Given the description of an element on the screen output the (x, y) to click on. 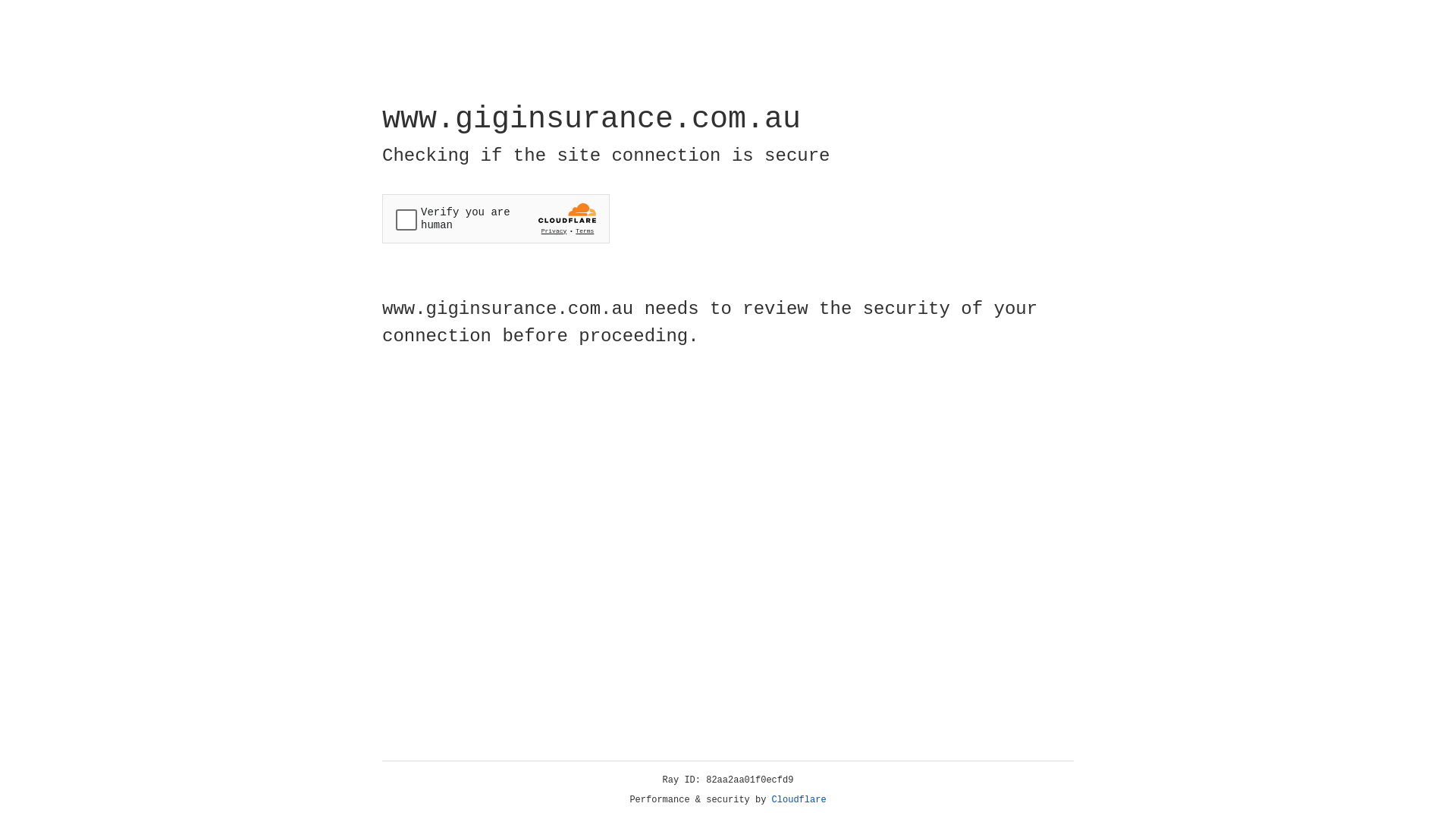
Widget containing a Cloudflare security challenge Element type: hover (495, 218)
Cloudflare Element type: text (798, 799)
